Given the description of an element on the screen output the (x, y) to click on. 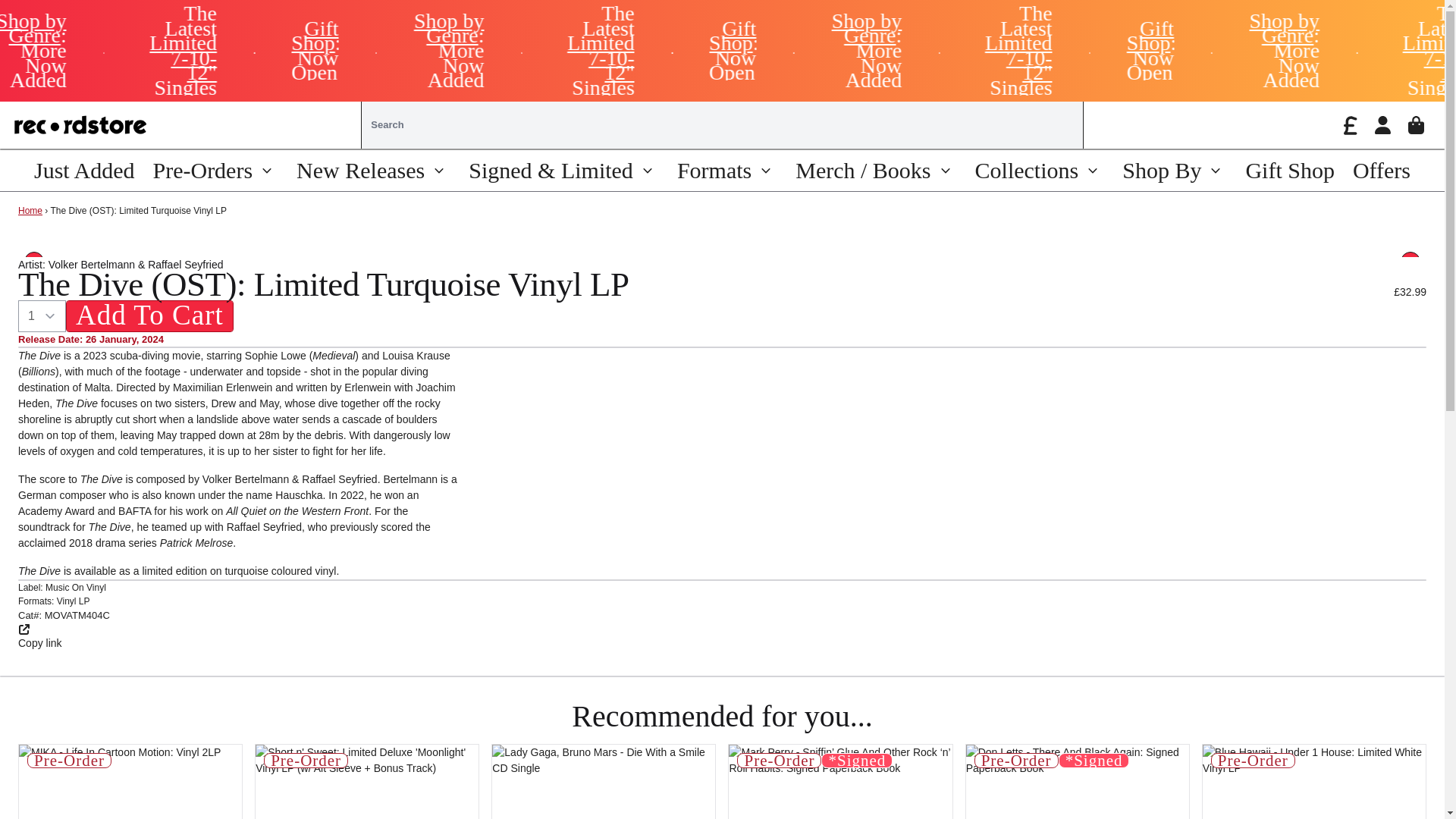
Shop by Genre: More Now Added (906, 50)
Shop by Genre: More Now Added (489, 50)
Shop by Genre: More Now Added (1322, 50)
Shop by Genre: More Now Added (72, 50)
